Given the description of an element on the screen output the (x, y) to click on. 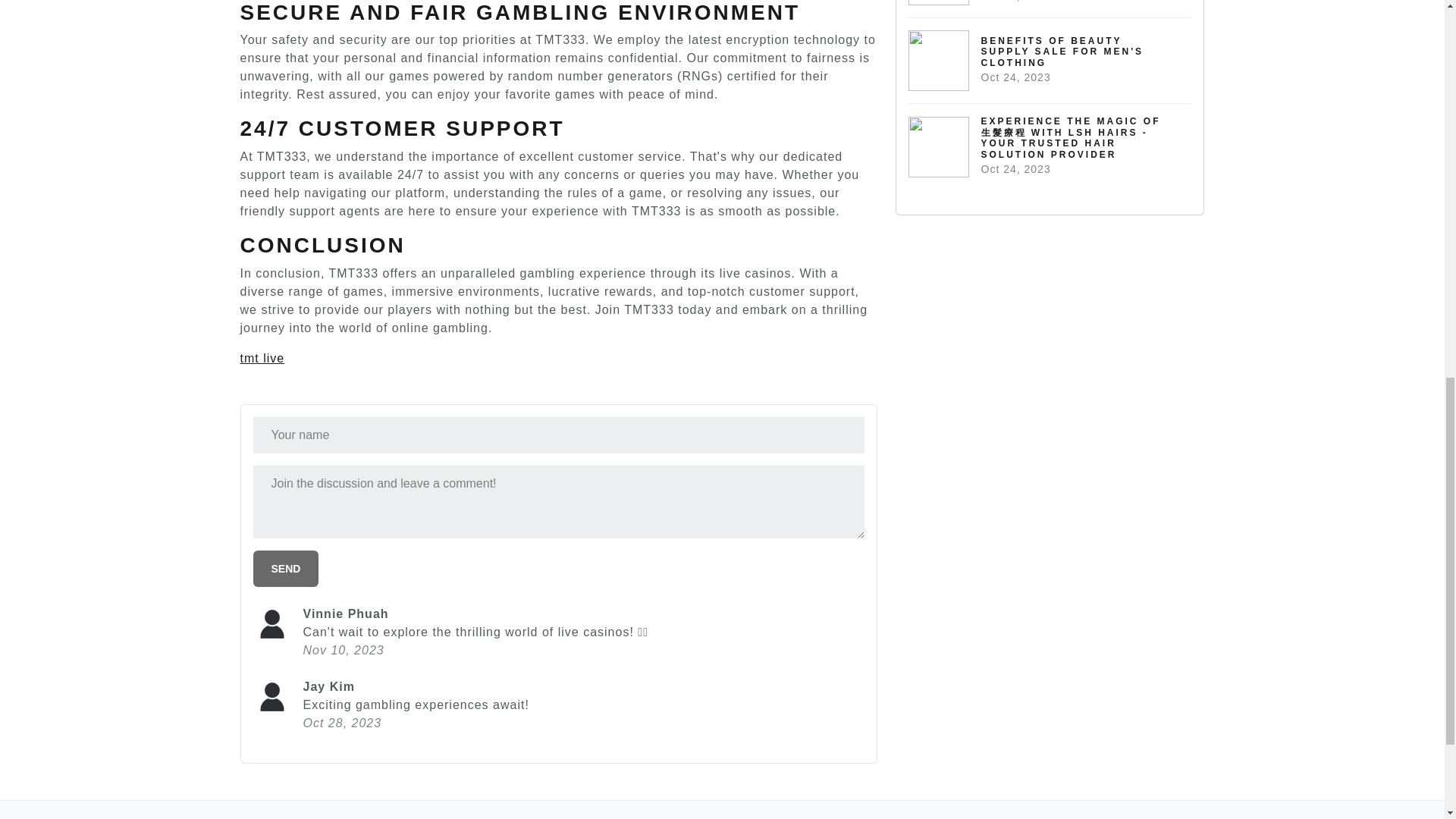
Send (285, 568)
Send (285, 568)
tmt live (261, 358)
